Given the description of an element on the screen output the (x, y) to click on. 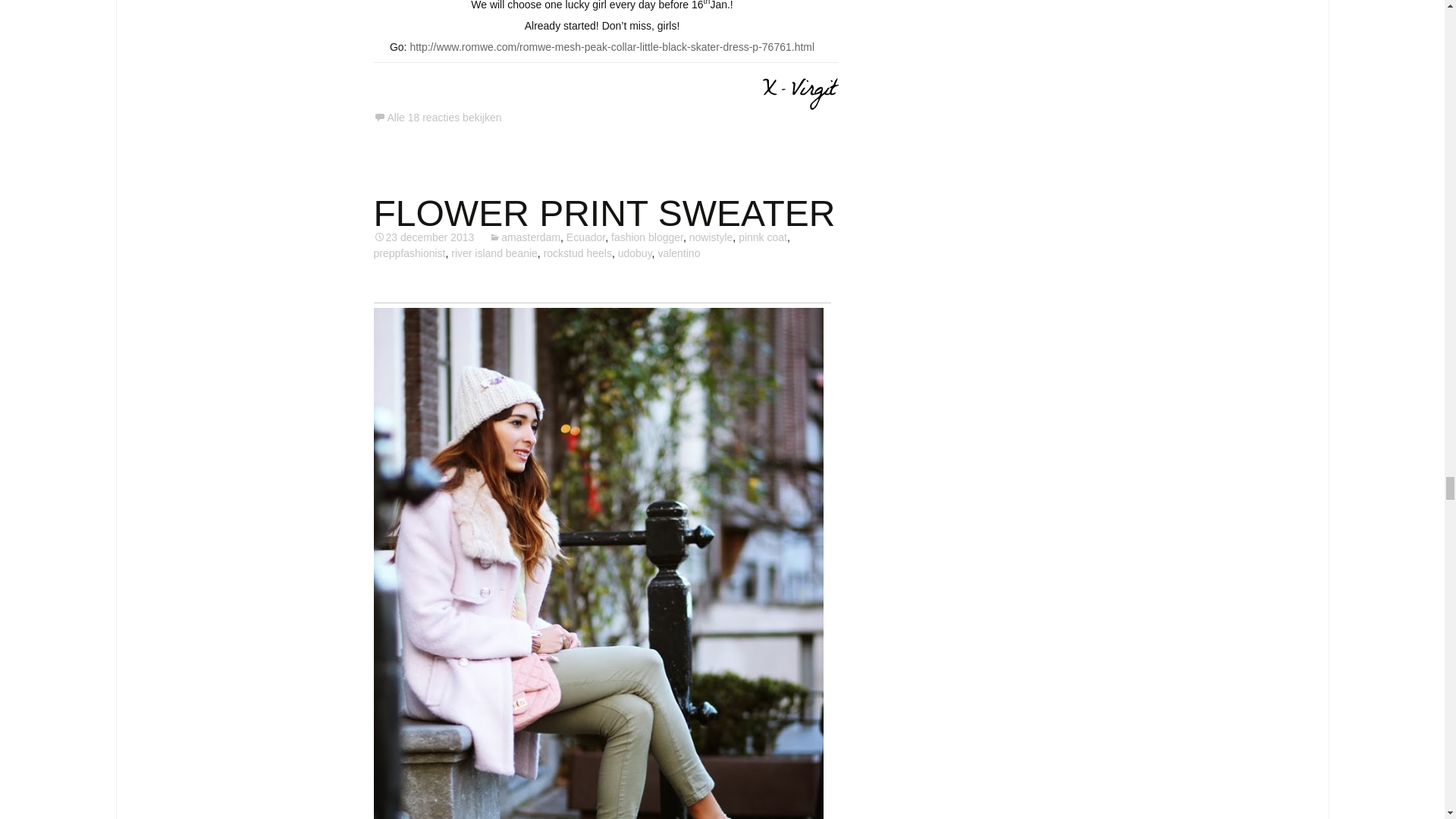
Permalink naar Flower print sweater (423, 236)
